Given the description of an element on the screen output the (x, y) to click on. 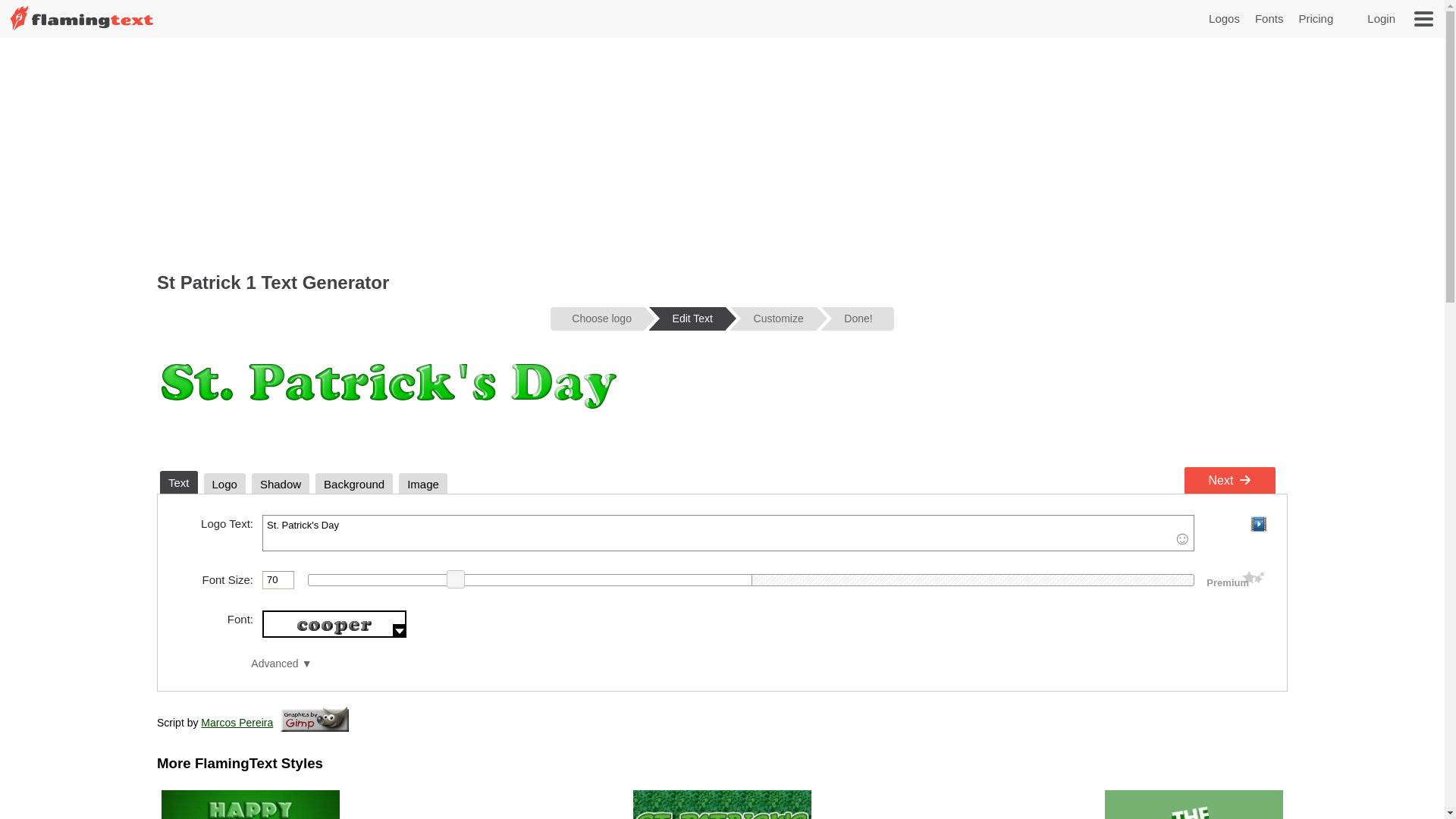
Pricing Element type: text (1315, 18)
Logos Element type: text (1223, 18)
Menu Element type: hover (1423, 18)
Home Element type: hover (81, 28)
Add a symbol to your logo text Element type: hover (1182, 539)
Fonts Element type: text (1269, 18)
Click to change Font Element type: hover (334, 623)
Next Element type: text (1229, 480)
Advertisement Element type: hover (721, 152)
Choose logo Element type: text (596, 318)
Marcos Pereira Element type: text (236, 722)
Advanced Element type: text (281, 663)
Click to create an animation with this logo. Element type: hover (1257, 523)
Login Element type: text (1381, 18)
